Given the description of an element on the screen output the (x, y) to click on. 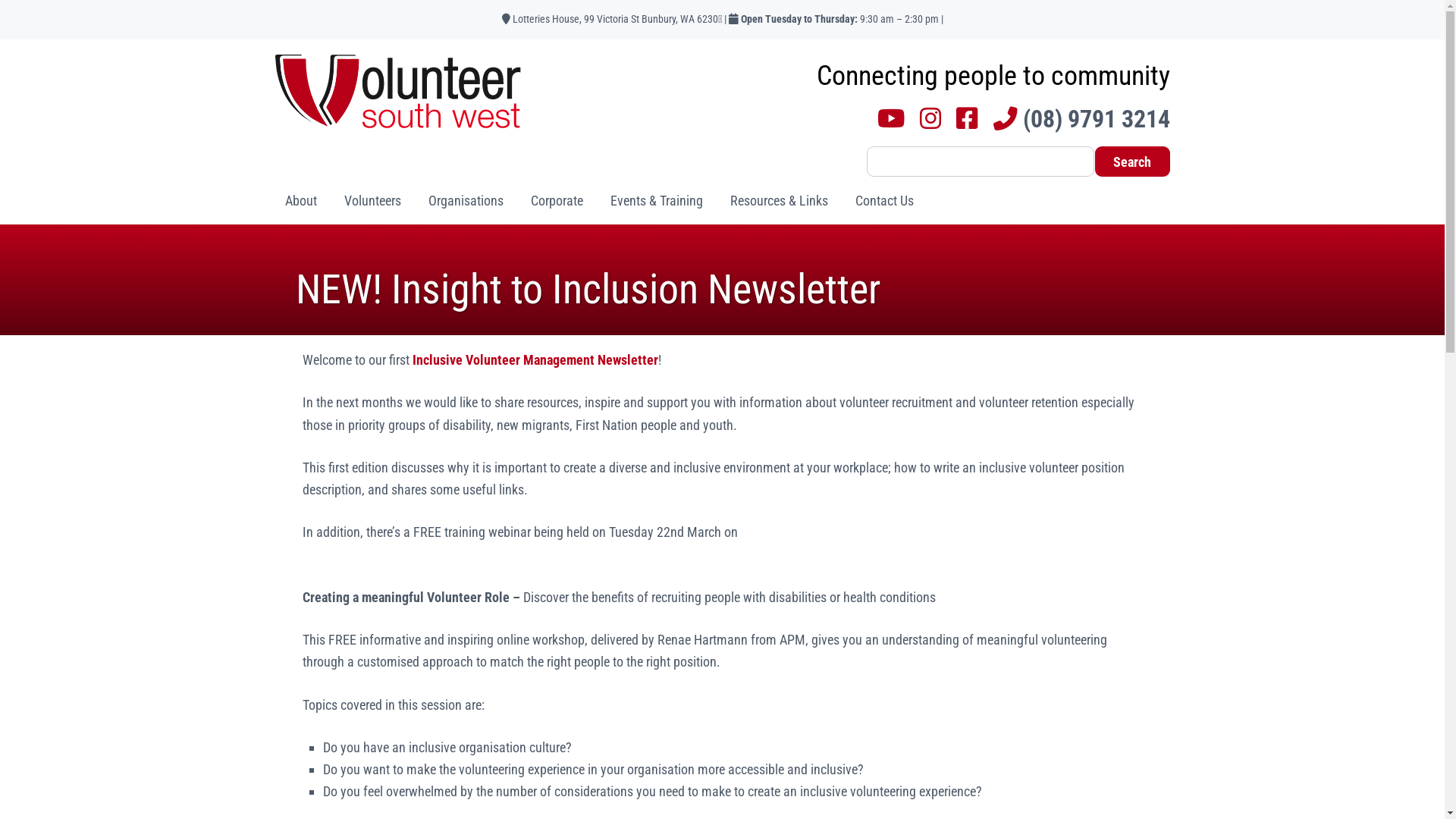
Contact Us Element type: text (883, 200)
About Element type: text (300, 200)
Volunteers Element type: text (372, 200)
(08) 9791 3214 Element type: text (1081, 119)
Organisations Element type: text (466, 200)
Corporate Element type: text (556, 200)
Resources & Links Element type: text (779, 200)
Search Element type: text (1132, 161)
Lotteries House, 99 Victoria St Bunbury, WA 6230 Element type: text (610, 18)
Events & Training Element type: text (656, 200)
Inclusive Volunteer Management Newsletter Element type: text (535, 359)
